Given the description of an element on the screen output the (x, y) to click on. 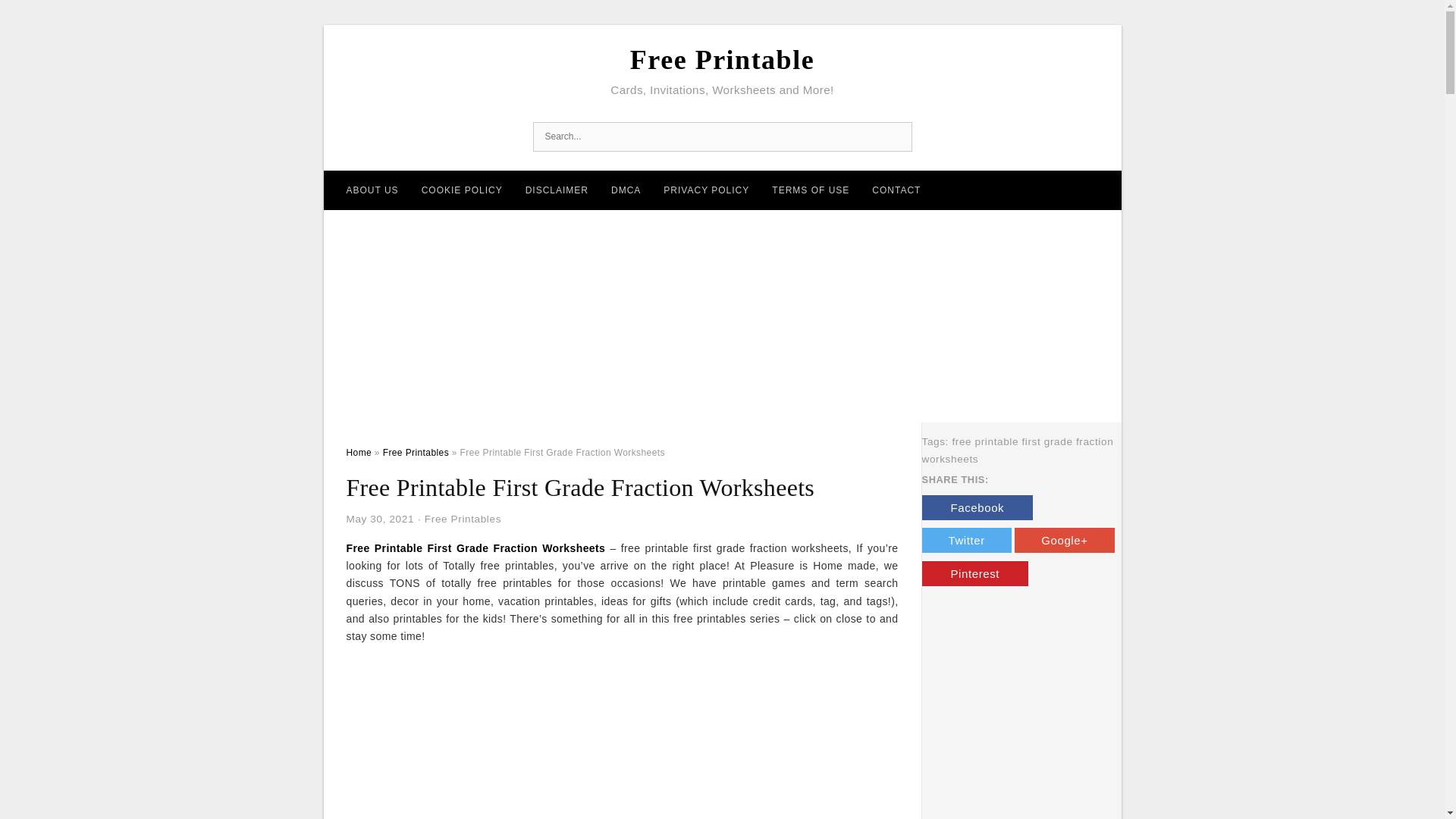
Free Printable First Grade Fraction Worksheets (475, 548)
Search for: (721, 136)
DISCLAIMER (556, 189)
Free Printables (462, 518)
DMCA (625, 189)
Search (43, 15)
free printable first grade fraction worksheets (1017, 450)
CONTACT (895, 189)
Search (895, 137)
Search (895, 137)
